Given the description of an element on the screen output the (x, y) to click on. 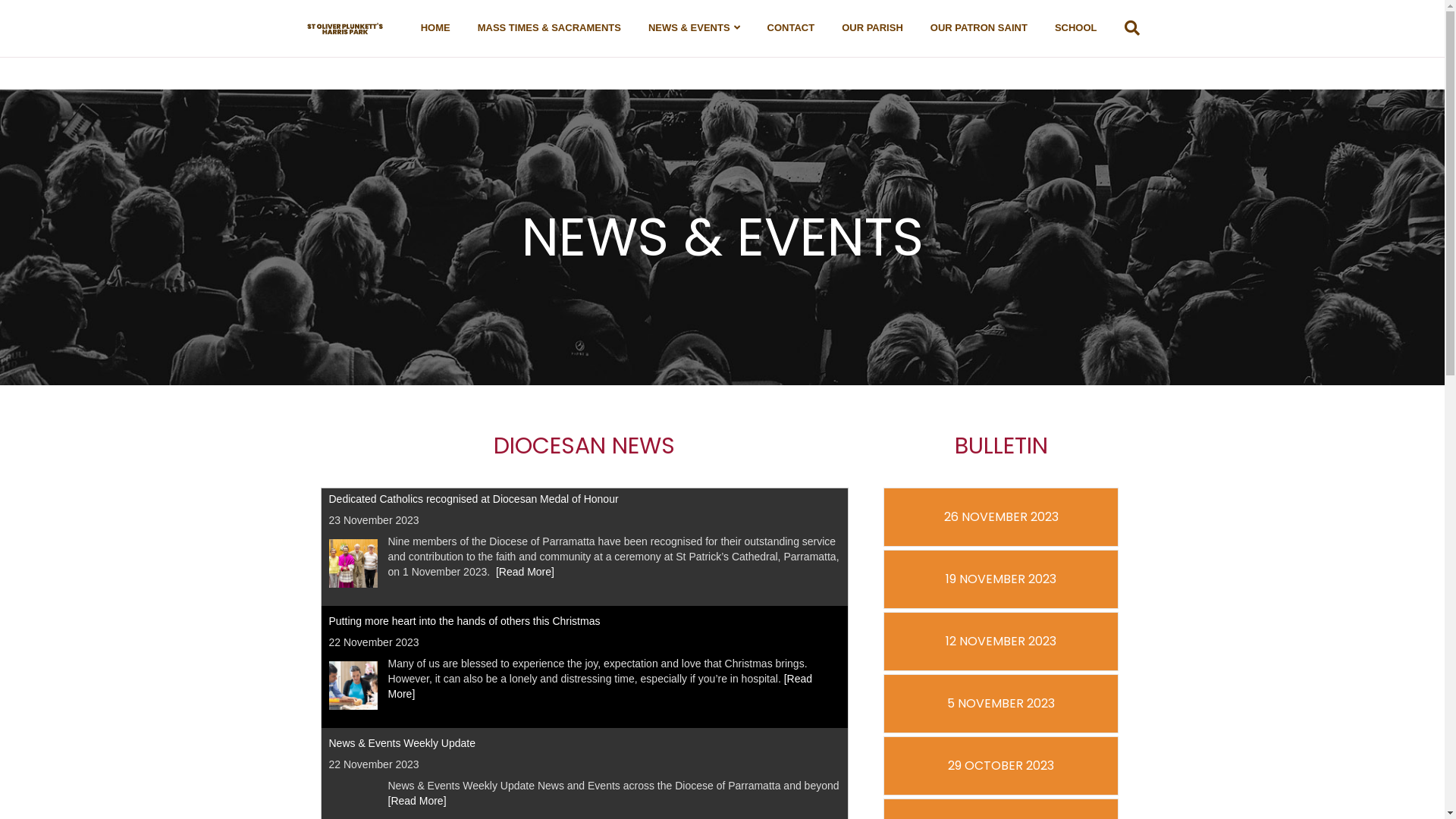
SCHOOL Element type: text (1075, 27)
[Read More] Element type: text (600, 690)
[Read More] Element type: text (524, 577)
5 NOVEMBER 2023 Element type: text (1000, 703)
[Read More] Element type: text (417, 805)
19 NOVEMBER 2023 Element type: text (1000, 578)
12 NOVEMBER 2023 Element type: text (1000, 640)
26 NOVEMBER 2023 Element type: text (1001, 516)
HOME Element type: text (435, 27)
Putting more heart into the hands of others this Christmas Element type: text (464, 625)
Dedicated Catholics recognised at Diocesan Medal of Honour Element type: text (473, 503)
OUR PARISH Element type: text (872, 27)
MASS TIMES & SACRAMENTS Element type: text (549, 27)
News & Events Weekly Update Element type: text (402, 747)
NEWS & EVENTS Element type: text (693, 28)
OUR PATRON SAINT Element type: text (978, 27)
29 OCTOBER 2023 Element type: text (1000, 765)
CONTACT Element type: text (790, 27)
